Given the description of an element on the screen output the (x, y) to click on. 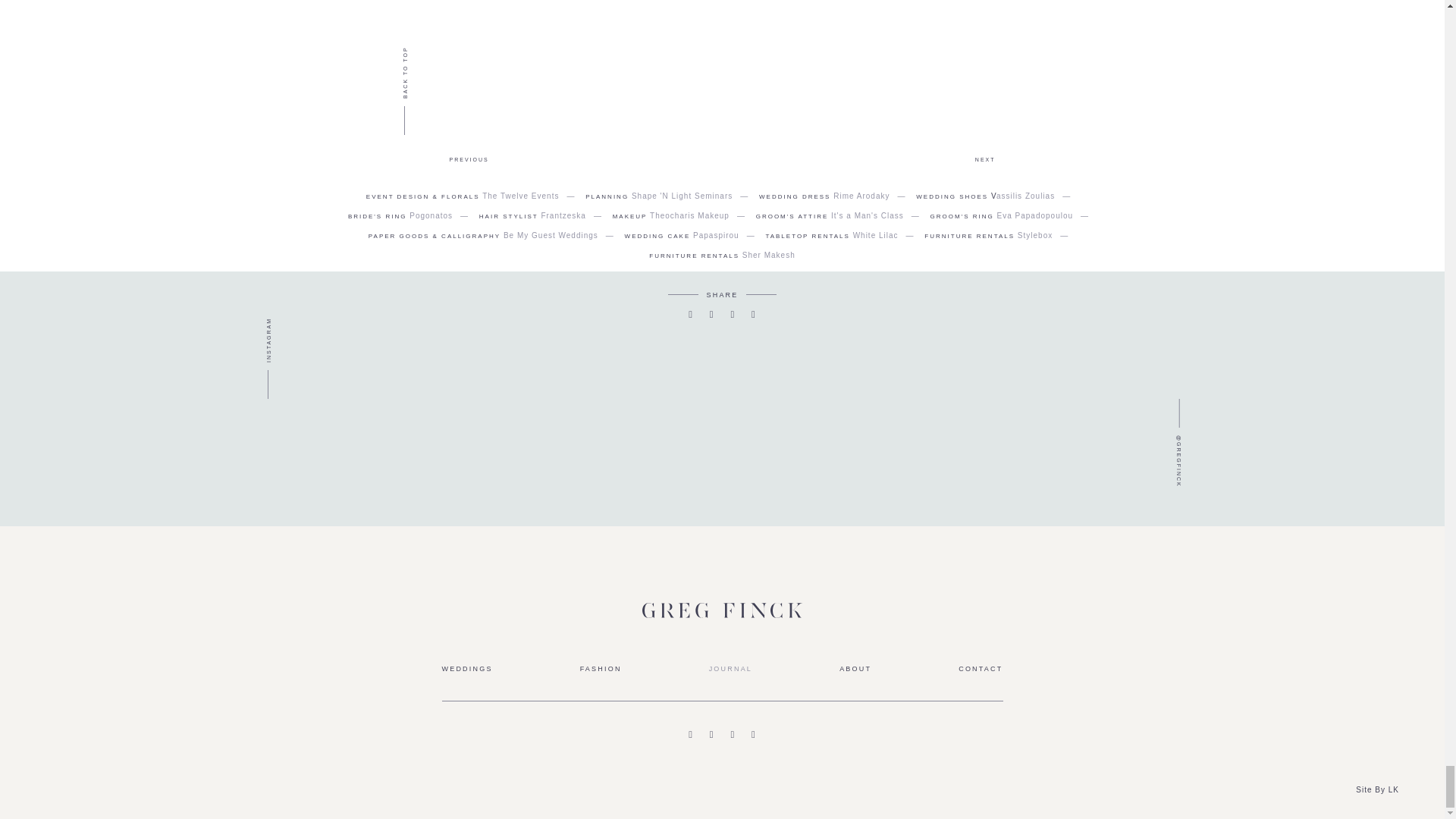
Sher Makesh (768, 254)
It's a Man's Class (867, 215)
Frantzeska (562, 215)
Be My Guest Weddings (550, 234)
PREVIOUS (467, 159)
White Lilac (875, 234)
Theocharis Makeup (689, 215)
Rime Arodaky (860, 195)
Papaspirou (716, 234)
BACK TO TOP (427, 48)
BACK TO TOP (427, 48)
assilis Zoulias (1024, 195)
Eva Papadopoulou (1035, 215)
The Twelve Events (520, 195)
Shape 'N Light Seminars (681, 195)
